Given the description of an element on the screen output the (x, y) to click on. 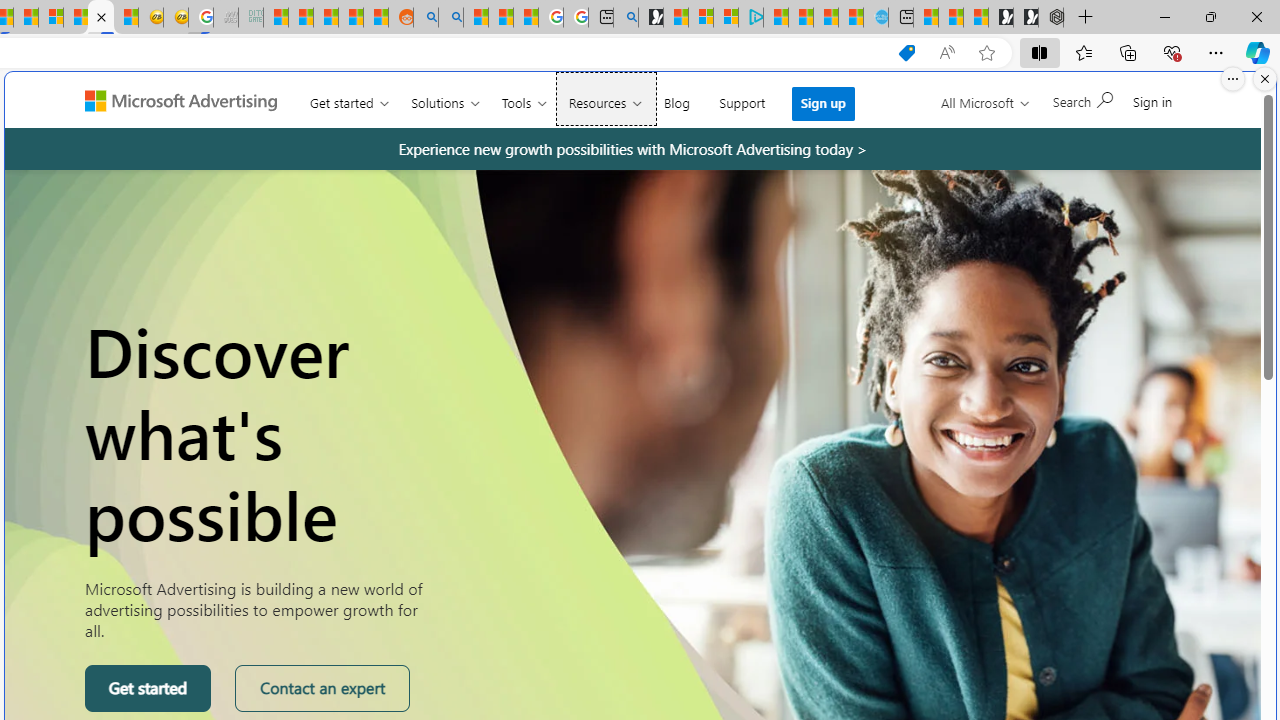
Sign up (823, 103)
Create images, get help with writing, and search faster (91, 108)
